Given the description of an element on the screen output the (x, y) to click on. 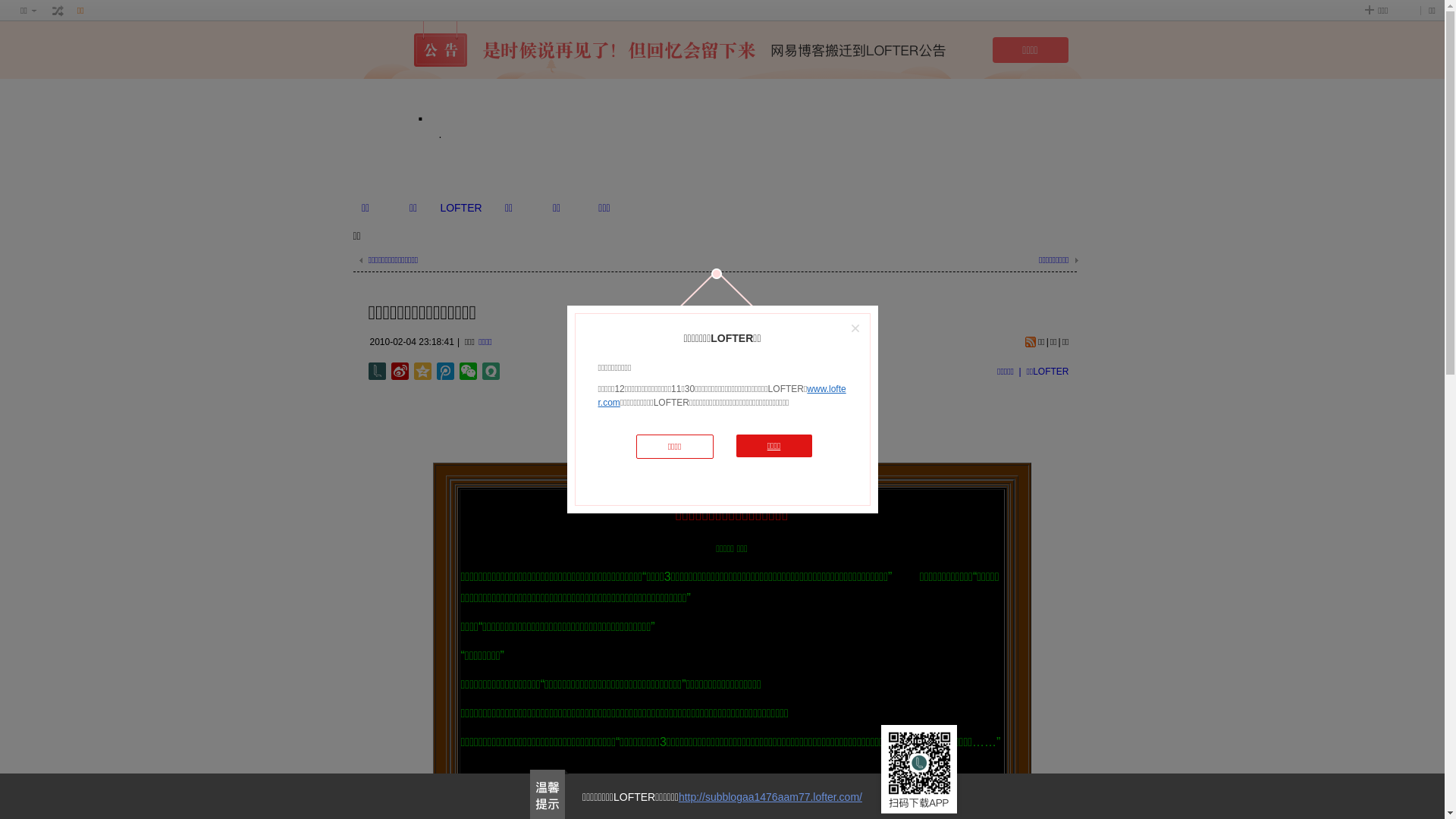
www.lofter.com Element type: text (721, 395)
  Element type: text (58, 10)
http://subblogaa1476aam77.lofter.com/ Element type: text (770, 796)
LOFTER Element type: text (460, 207)
